Given the description of an element on the screen output the (x, y) to click on. 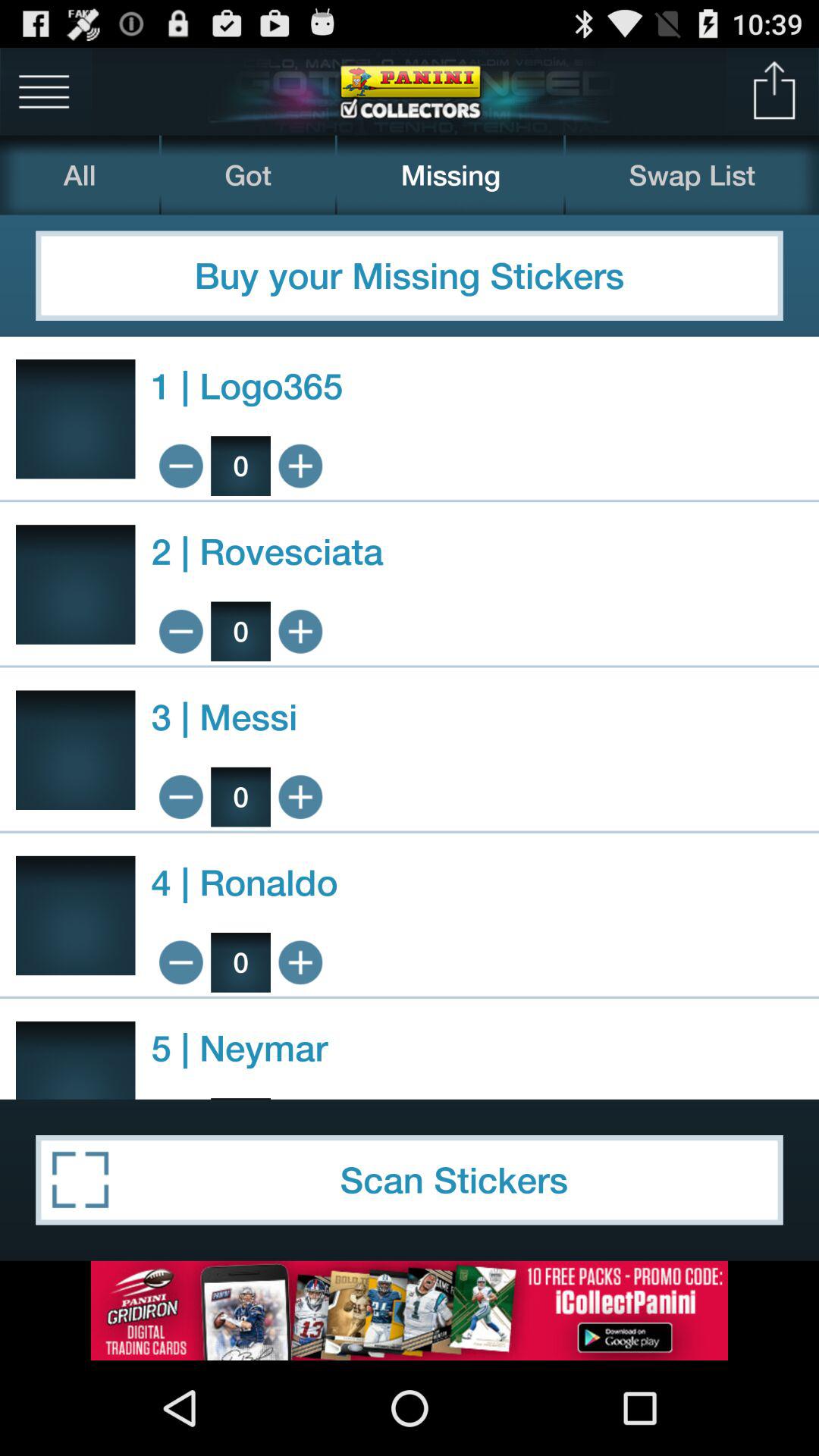
subtract 1 rovesciata (181, 631)
